Given the description of an element on the screen output the (x, y) to click on. 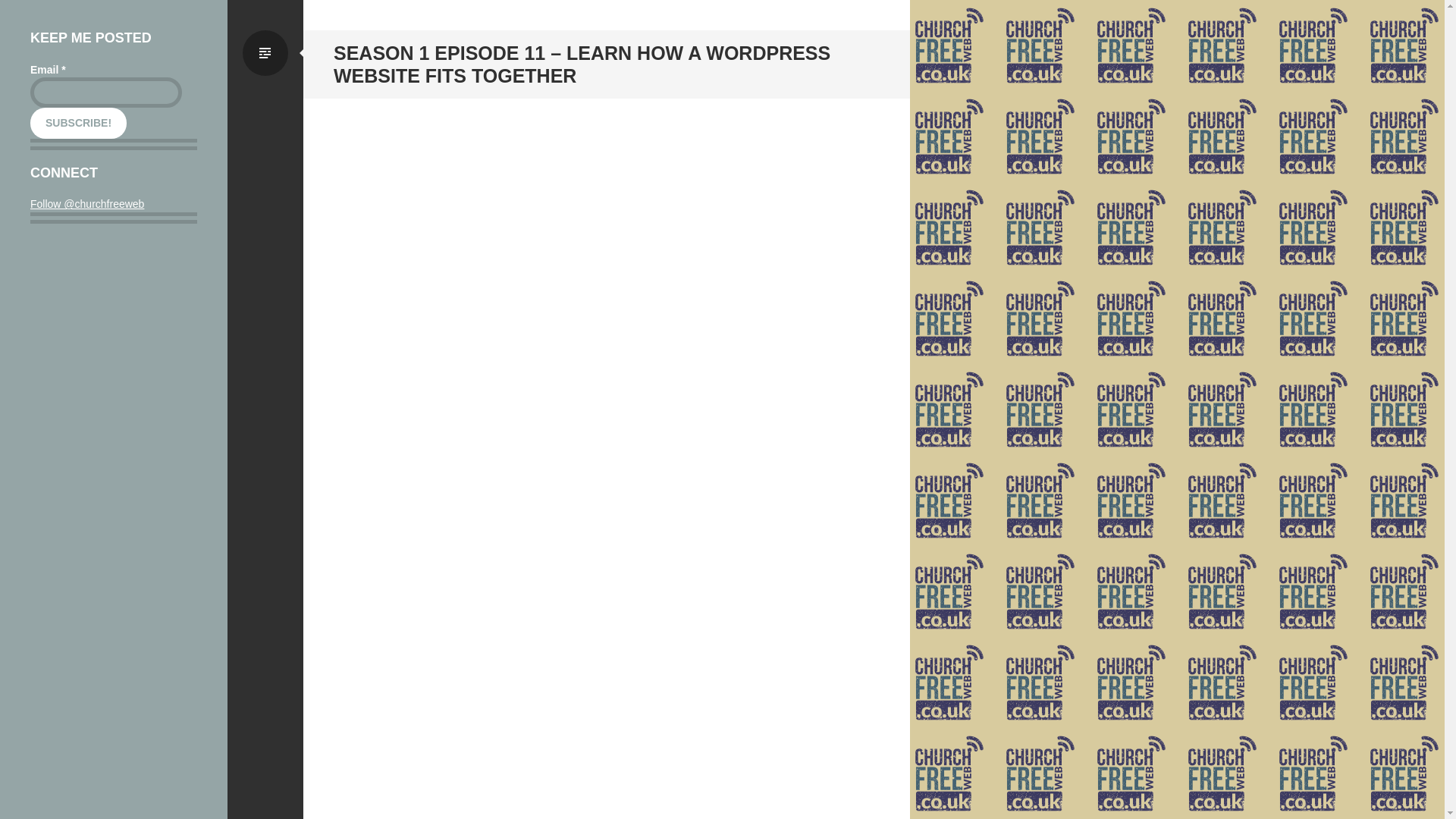
Email (106, 91)
Subscribe! (78, 122)
Subscribe! (78, 122)
